Given the description of an element on the screen output the (x, y) to click on. 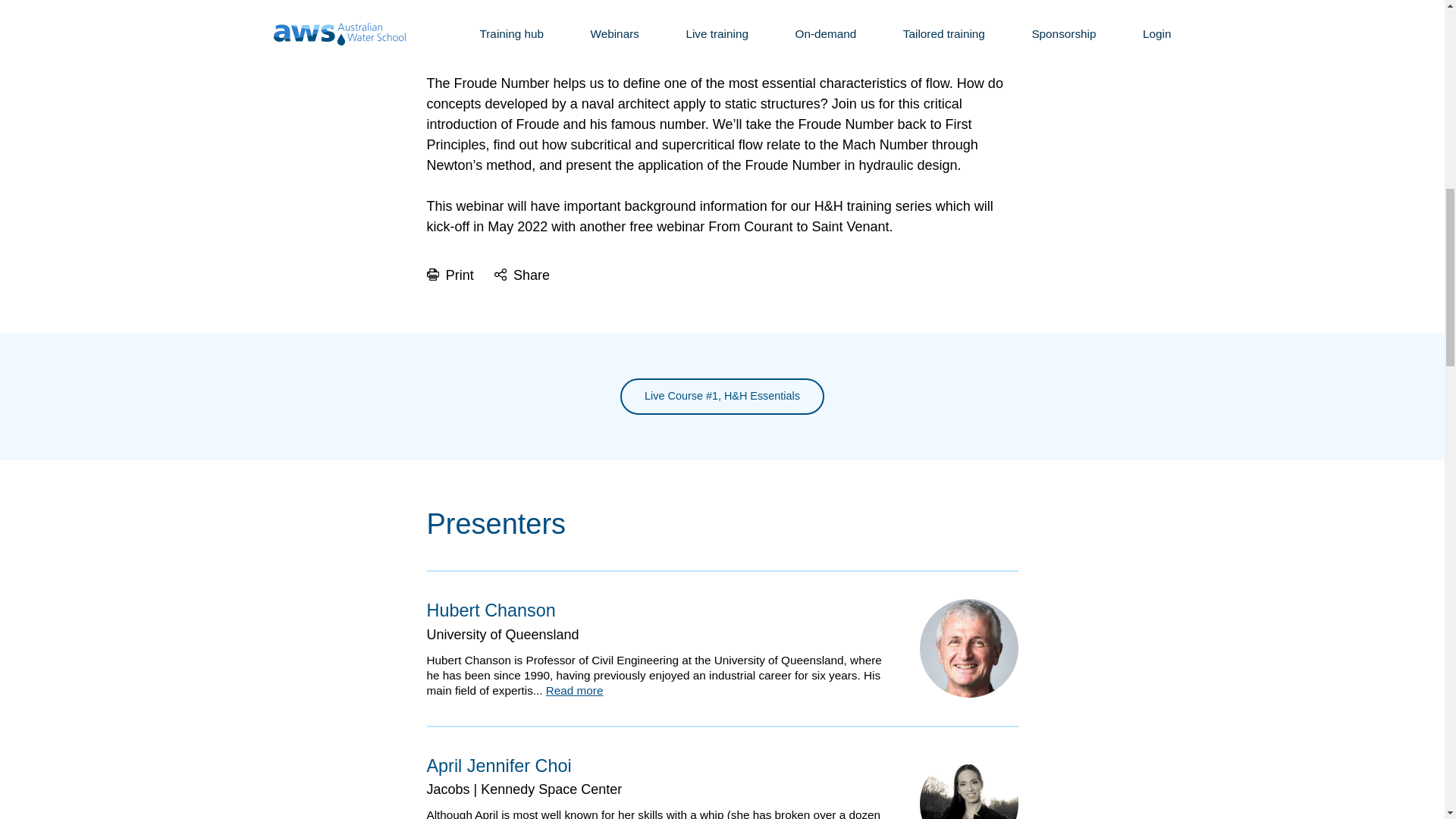
Print (449, 275)
Share (522, 275)
